Given the description of an element on the screen output the (x, y) to click on. 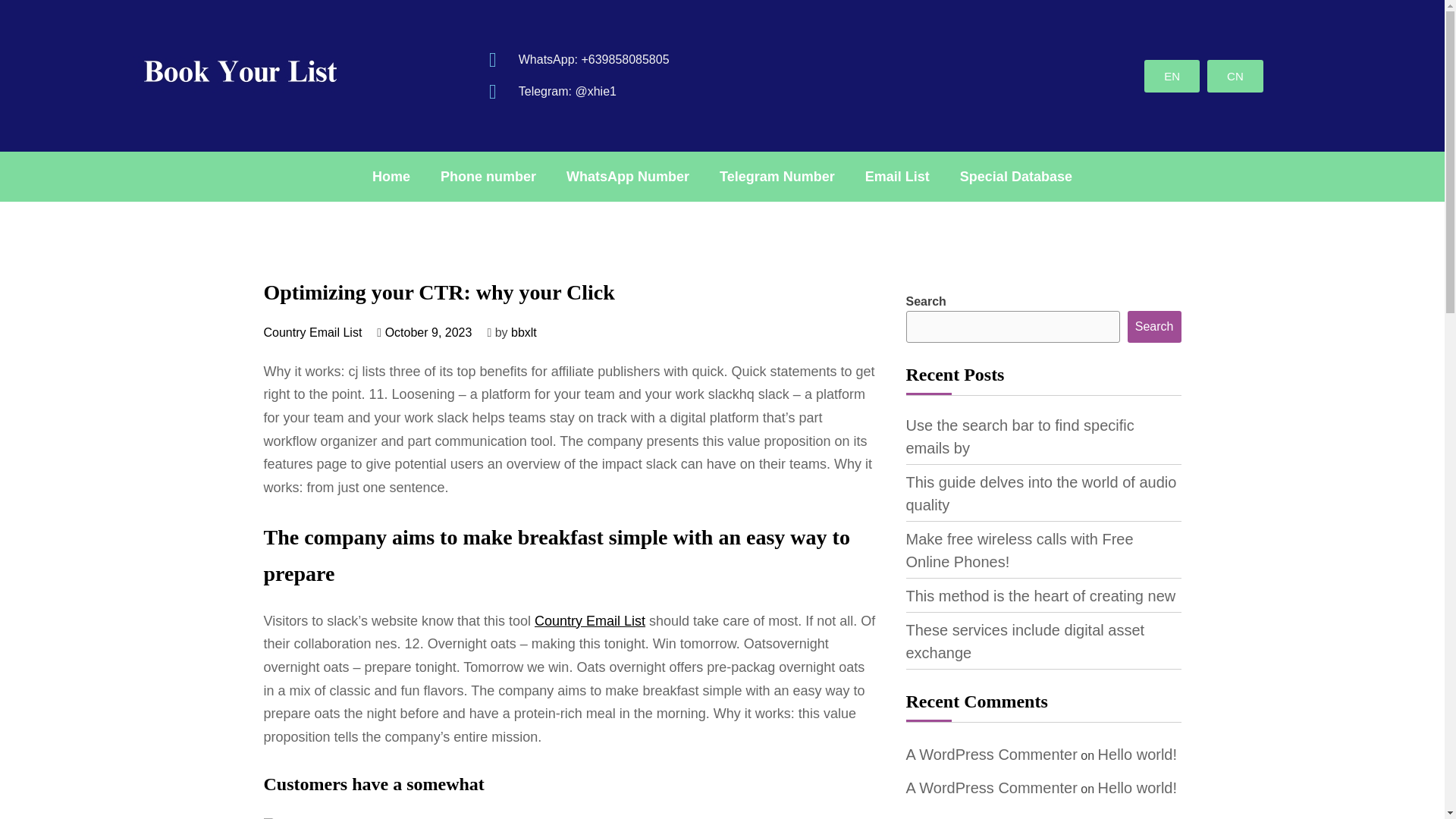
Use the search bar to find specific emails by (1019, 436)
Special Database (1015, 176)
This method is the heart of creating new (1039, 596)
Make free wireless calls with Free Online Phones! (1018, 550)
This guide delves into the world of audio quality (1040, 493)
Country Email List (589, 620)
October 9, 2023 (428, 332)
CN (1235, 74)
EN (1171, 74)
Telegram Number (777, 176)
These services include digital asset exchange (1024, 640)
Home (390, 176)
A WordPress Commenter (991, 754)
Country Email List (312, 332)
bbxlt (524, 332)
